Given the description of an element on the screen output the (x, y) to click on. 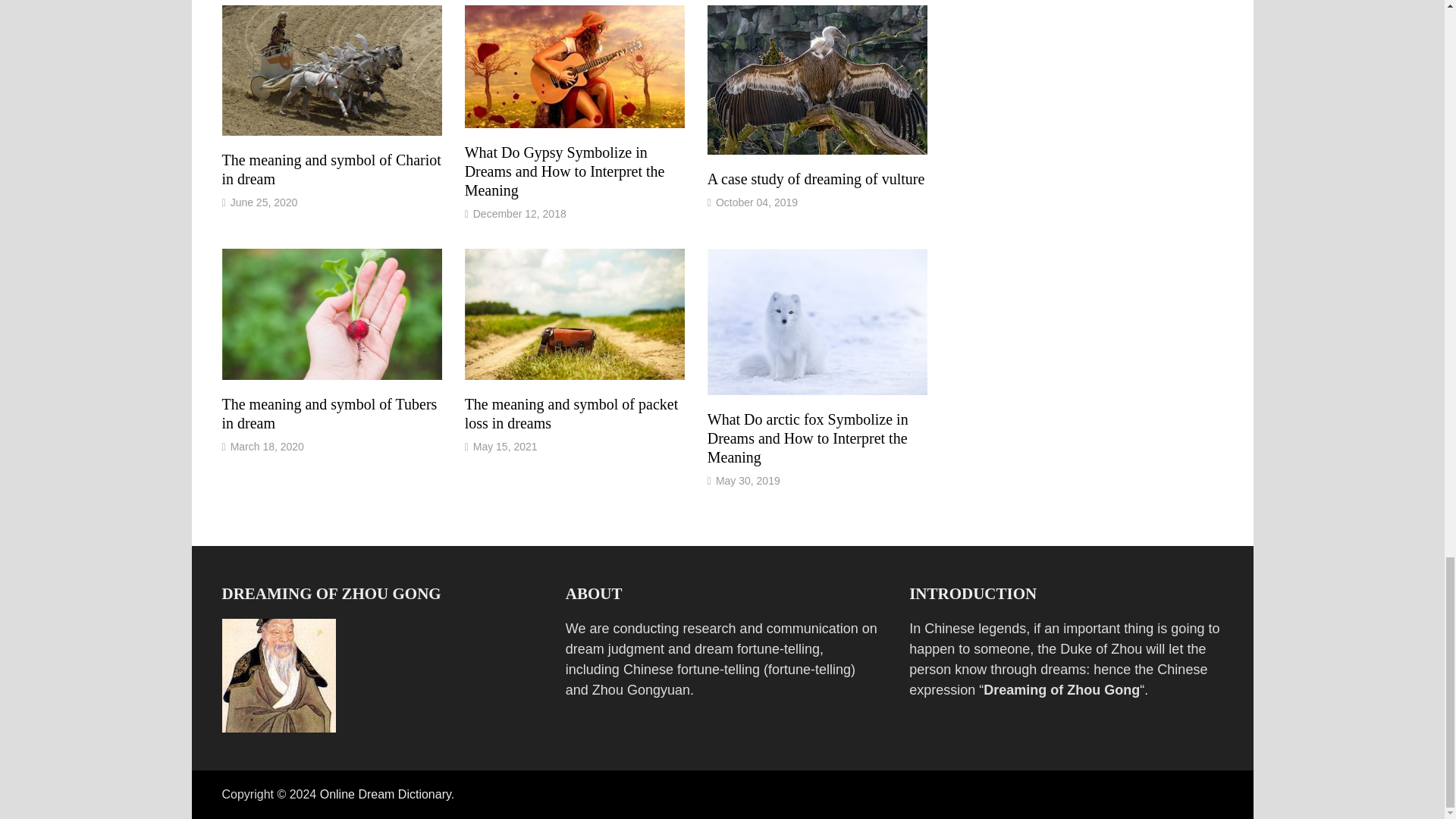
October 04, 2019 (756, 202)
June 25, 2020 (264, 202)
March 18, 2020 (267, 446)
A case study of dreaming of vulture (815, 178)
The meaning and symbol of Chariot in dream (331, 169)
May 15, 2021 (505, 446)
The meaning and symbol of Tubers in dream (328, 413)
A case study of dreaming of vulture (815, 178)
The meaning and symbol of packet loss in dreams (571, 413)
The meaning and symbol of packet loss in dreams (571, 413)
December 12, 2018 (519, 214)
